Given the description of an element on the screen output the (x, y) to click on. 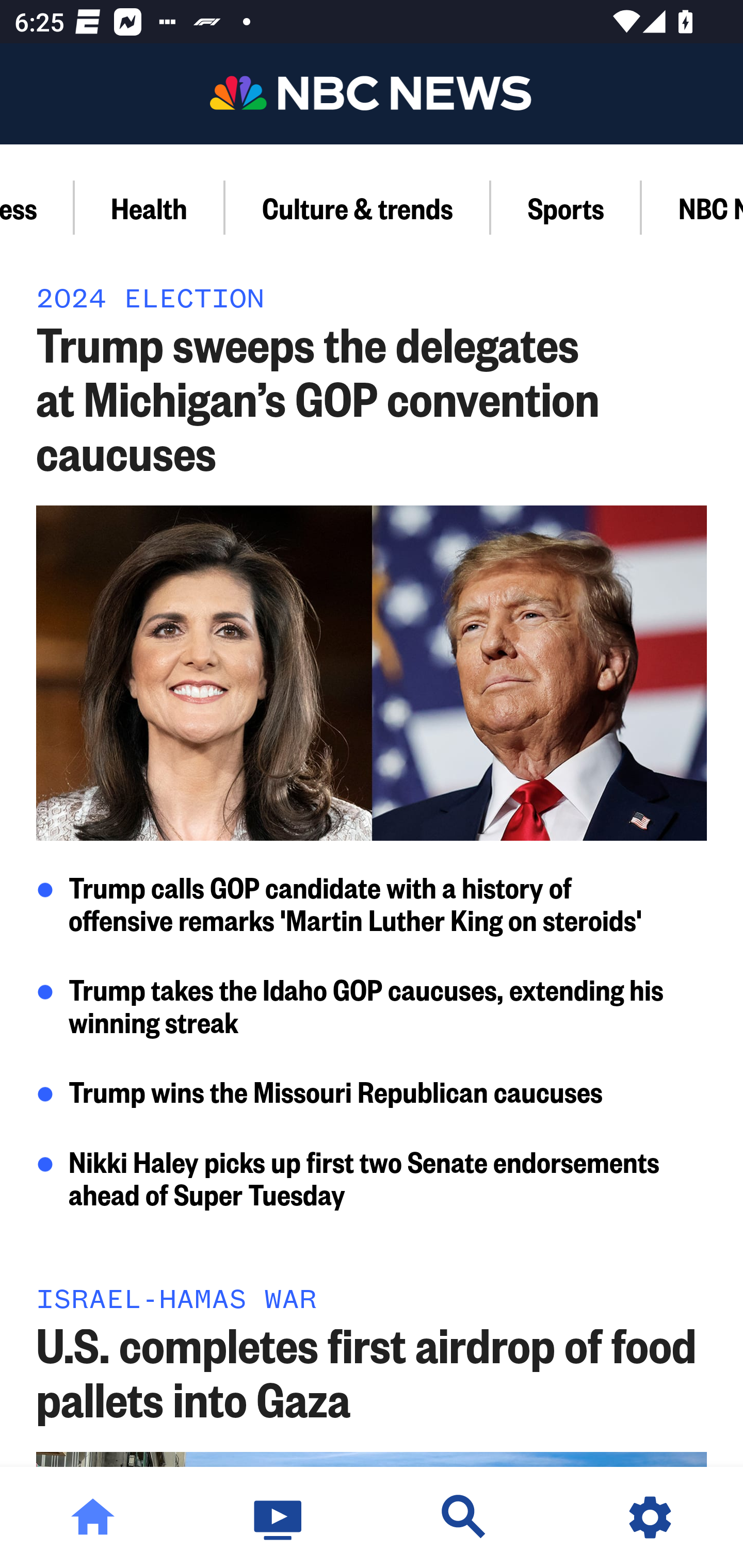
Health Section,Health (150, 207)
Culture & trends Section,Culture & trends (358, 207)
Sports Section,Sports (566, 207)
Watch (278, 1517)
Discover (464, 1517)
Settings (650, 1517)
